Given the description of an element on the screen output the (x, y) to click on. 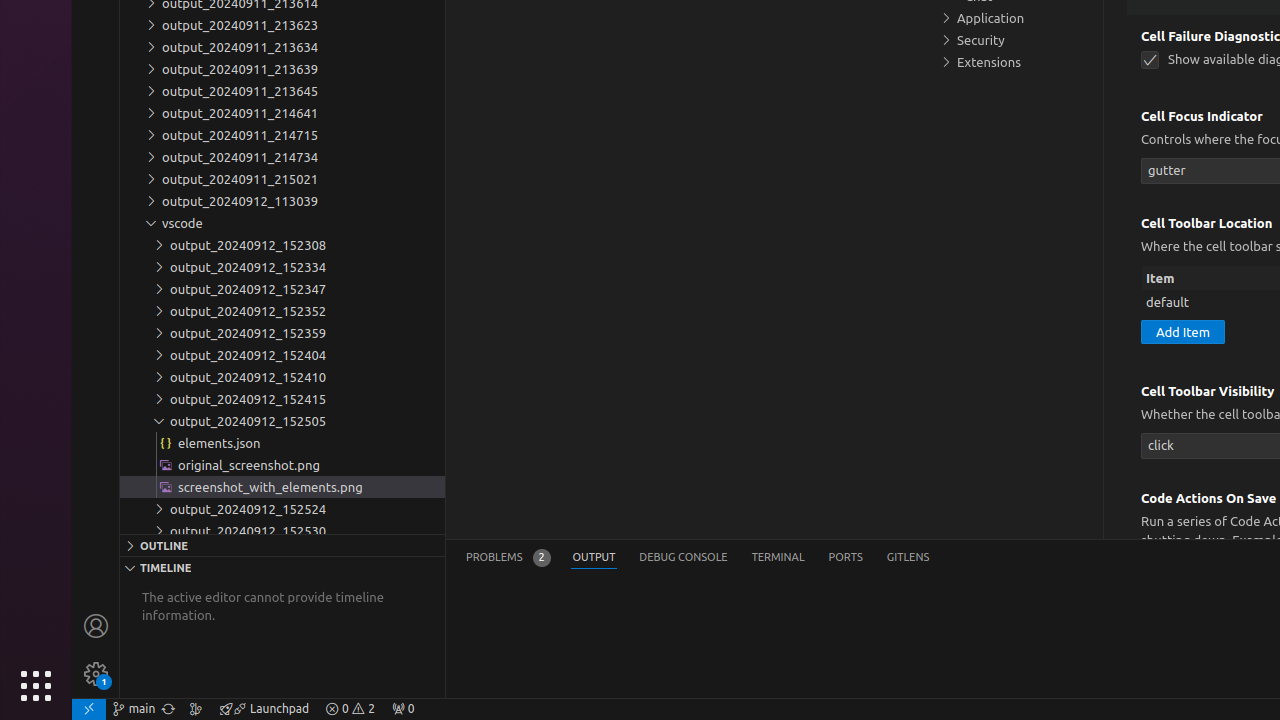
output_20240912_152410 Element type: tree-item (282, 377)
output_20240911_213645 Element type: tree-item (282, 91)
output_20240912_152404 Element type: tree-item (282, 355)
GitLens Element type: page-tab (908, 557)
Extensions, group Element type: tree-item (1015, 62)
